Given the description of an element on the screen output the (x, y) to click on. 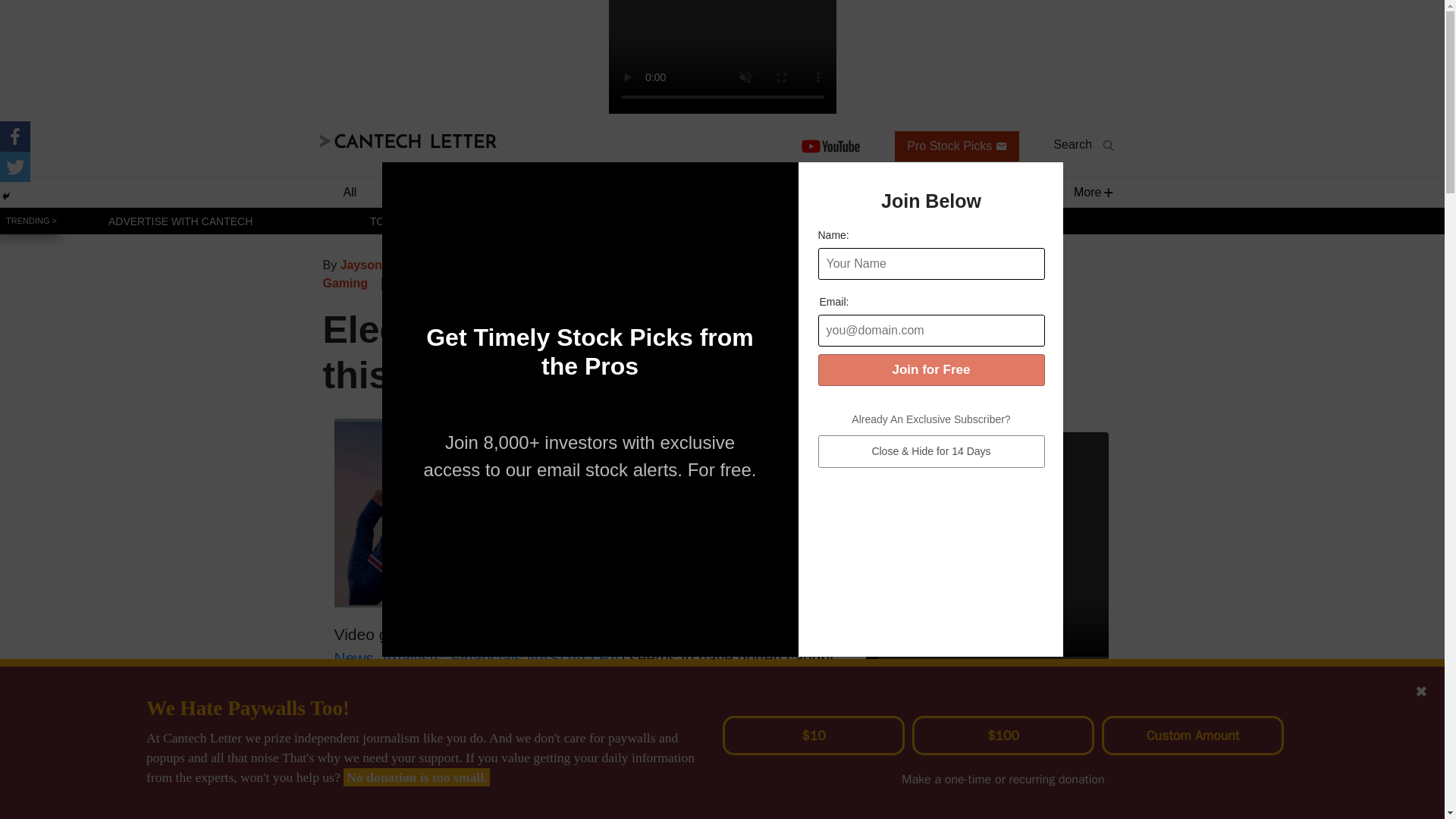
Life Sciences (711, 191)
Fintech (611, 191)
Pro Stock Picks (957, 146)
Twitter (15, 166)
More (1087, 191)
Join for Free (929, 368)
Facebook (15, 136)
Jayson MacLean (389, 264)
Hide (5, 196)
ea (450, 282)
Cleantech (909, 191)
American Tech (1009, 264)
All posts (934, 264)
Cannabis (521, 191)
